Given the description of an element on the screen output the (x, y) to click on. 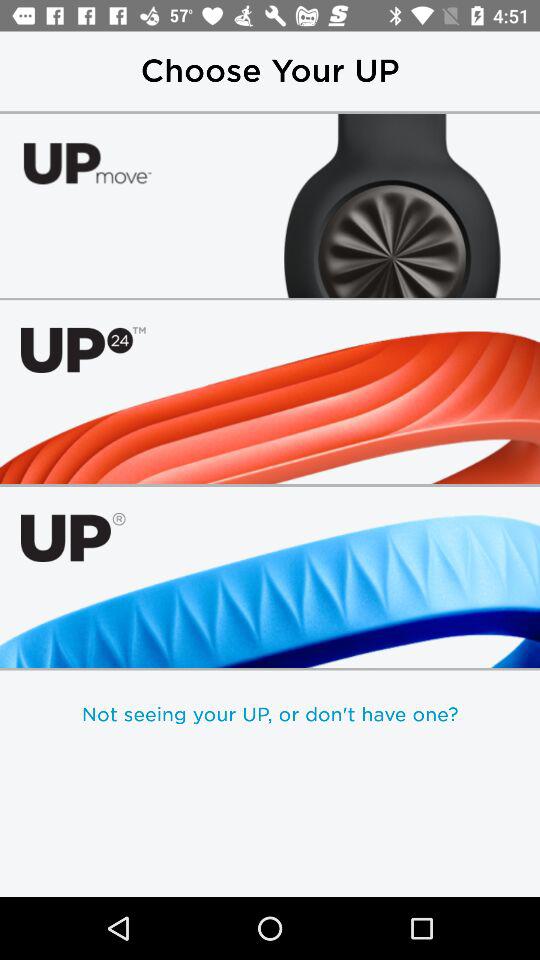
flip until the not seeing your icon (270, 713)
